Given the description of an element on the screen output the (x, y) to click on. 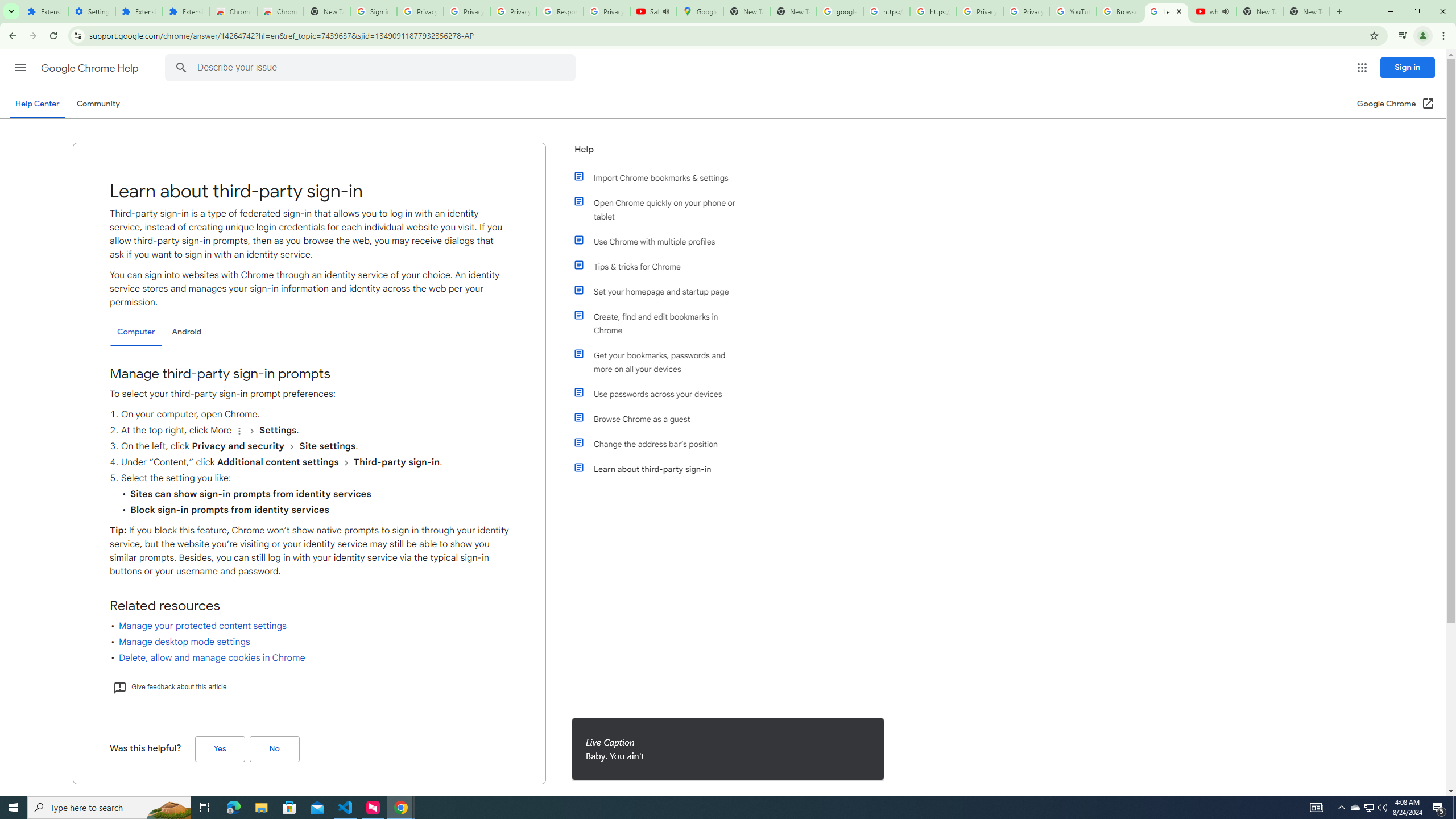
Learn about third-party sign-in (661, 469)
Mute tab (1225, 10)
Describe your issue (371, 67)
Google Chrome (Open in a new window) (1395, 103)
Extensions (44, 11)
Give feedback about this article (169, 686)
YouTube (1073, 11)
Manage desktop mode settings (184, 641)
